Given the description of an element on the screen output the (x, y) to click on. 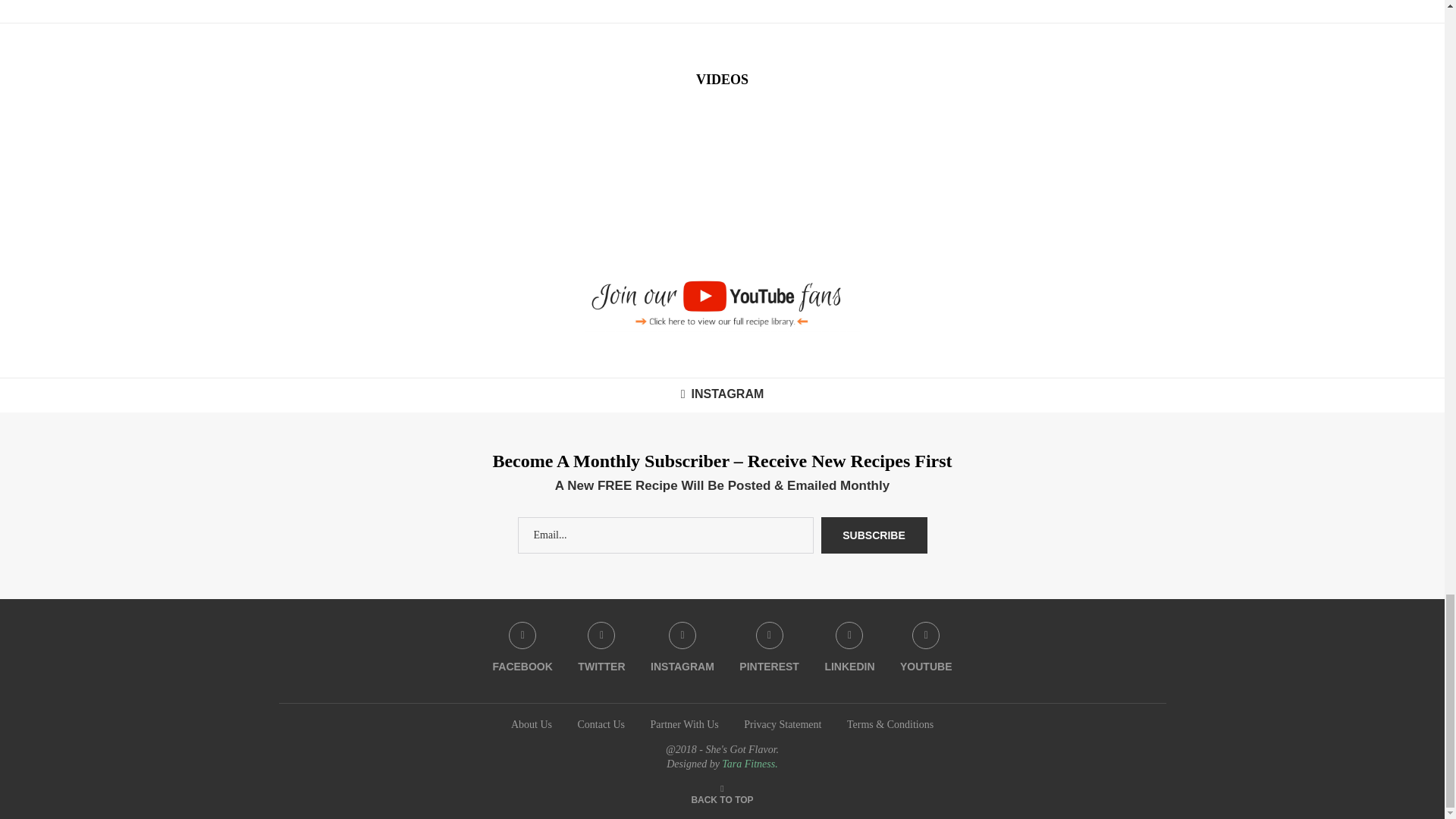
YouTube player (1028, 182)
YouTube player (722, 182)
Subscribe (873, 534)
YouTube player (416, 182)
